Given the description of an element on the screen output the (x, y) to click on. 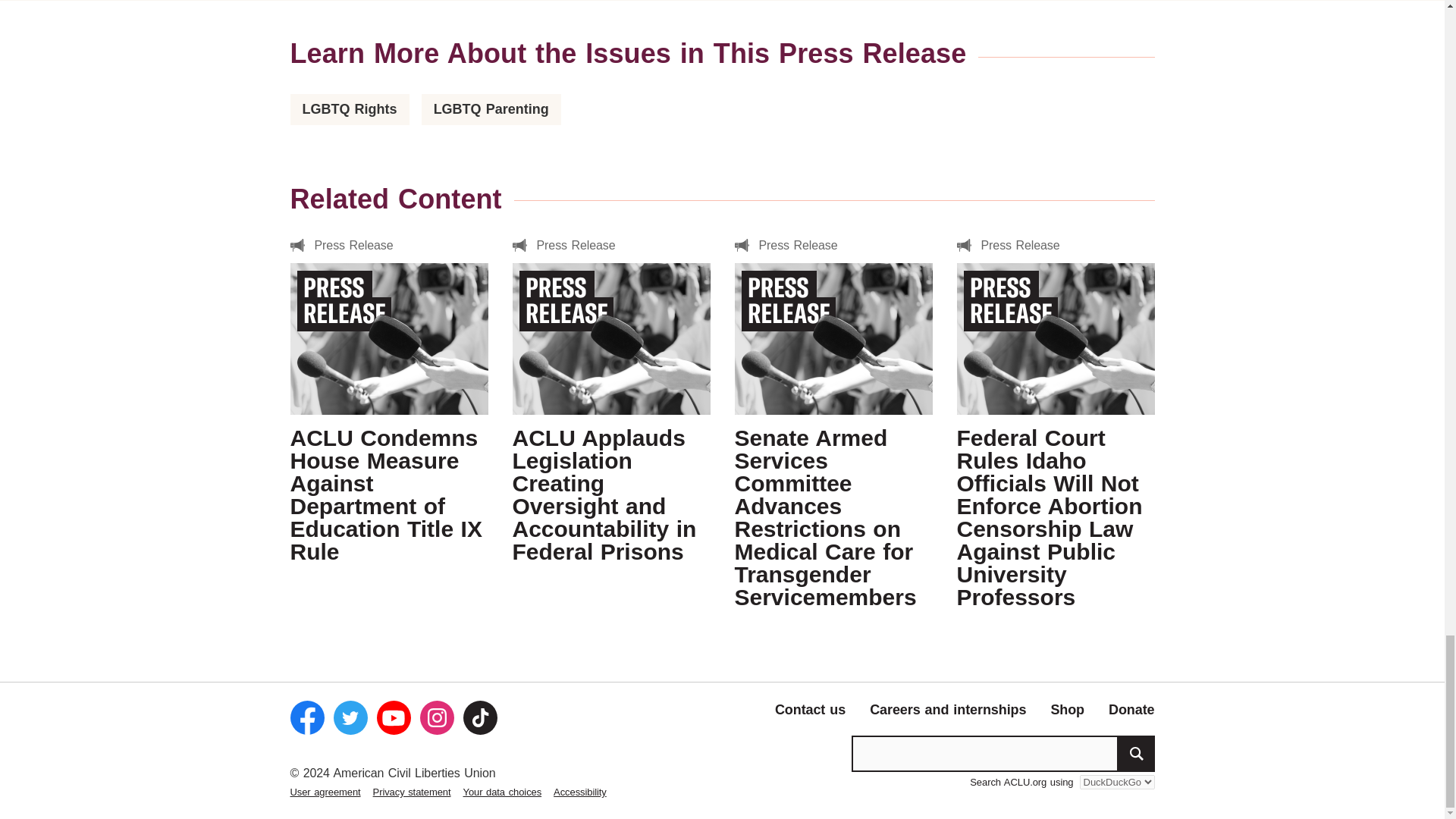
Follow the ACLU on Instagram (437, 717)
Follow the ACLU on Facebook (306, 717)
search (1136, 753)
Follow the ACLU on TikTok (479, 717)
Follow the ACLU on YouTube (392, 717)
Follow the ACLU on Twitter (350, 717)
